Given the description of an element on the screen output the (x, y) to click on. 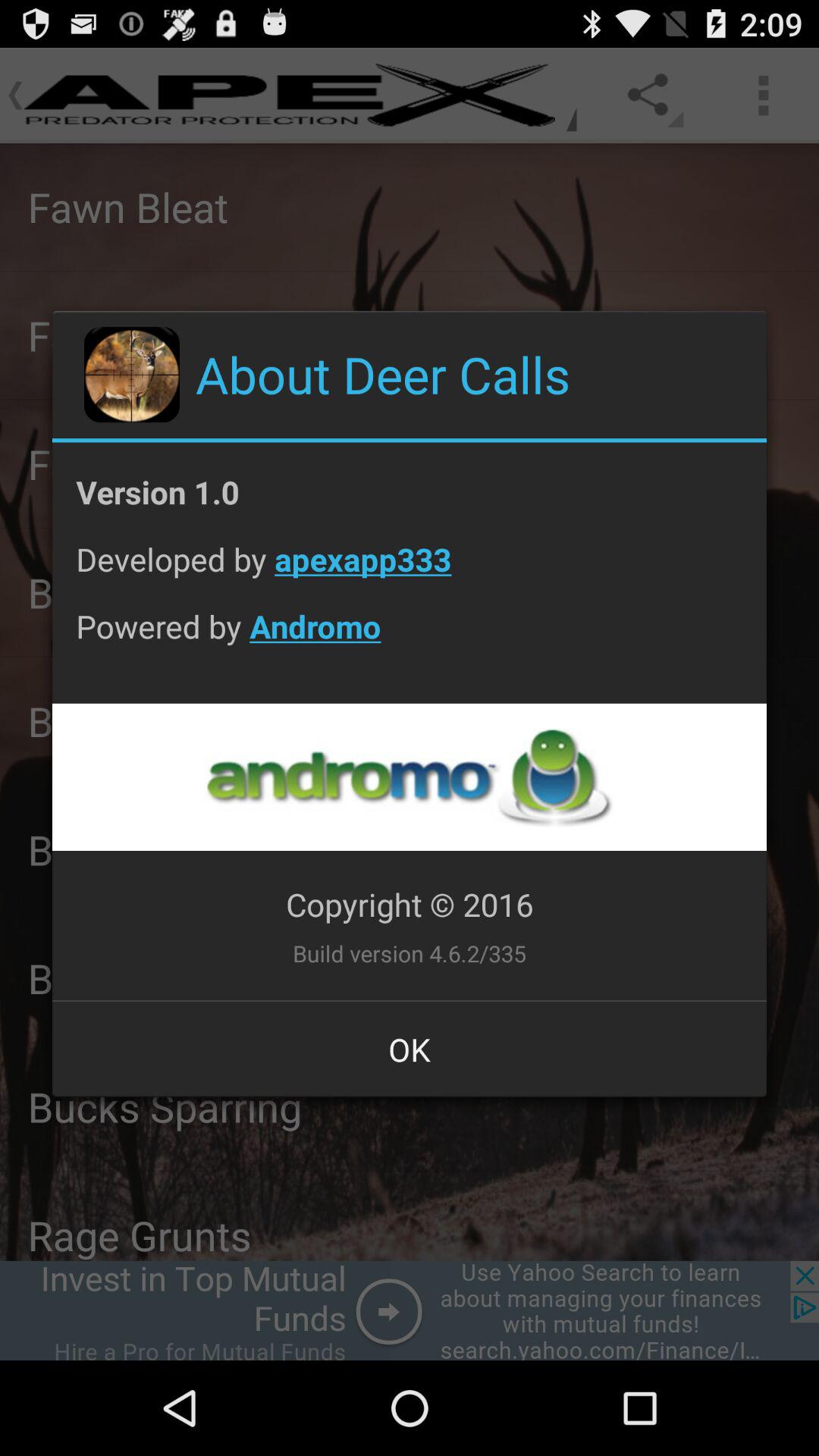
select the item at the bottom (409, 1049)
